Given the description of an element on the screen output the (x, y) to click on. 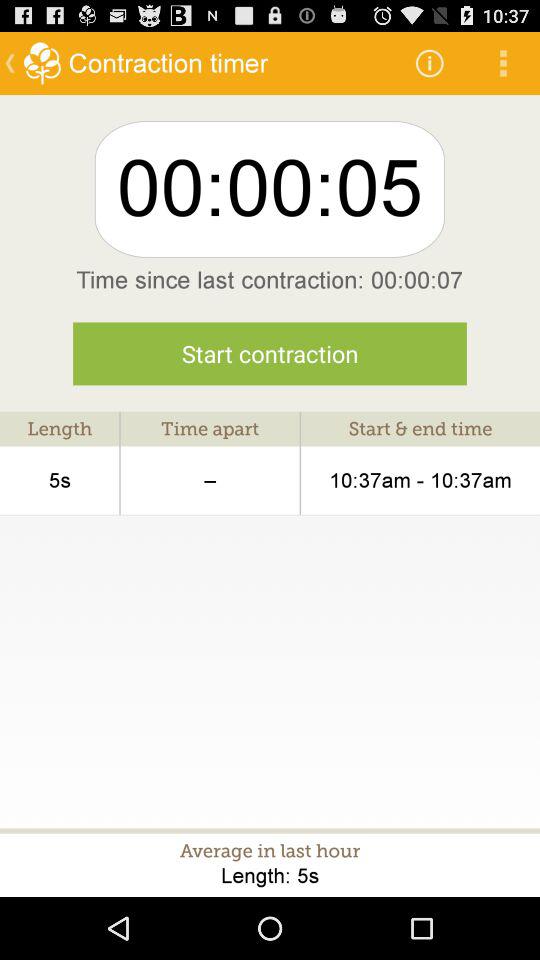
flip to start contraction (269, 353)
